Given the description of an element on the screen output the (x, y) to click on. 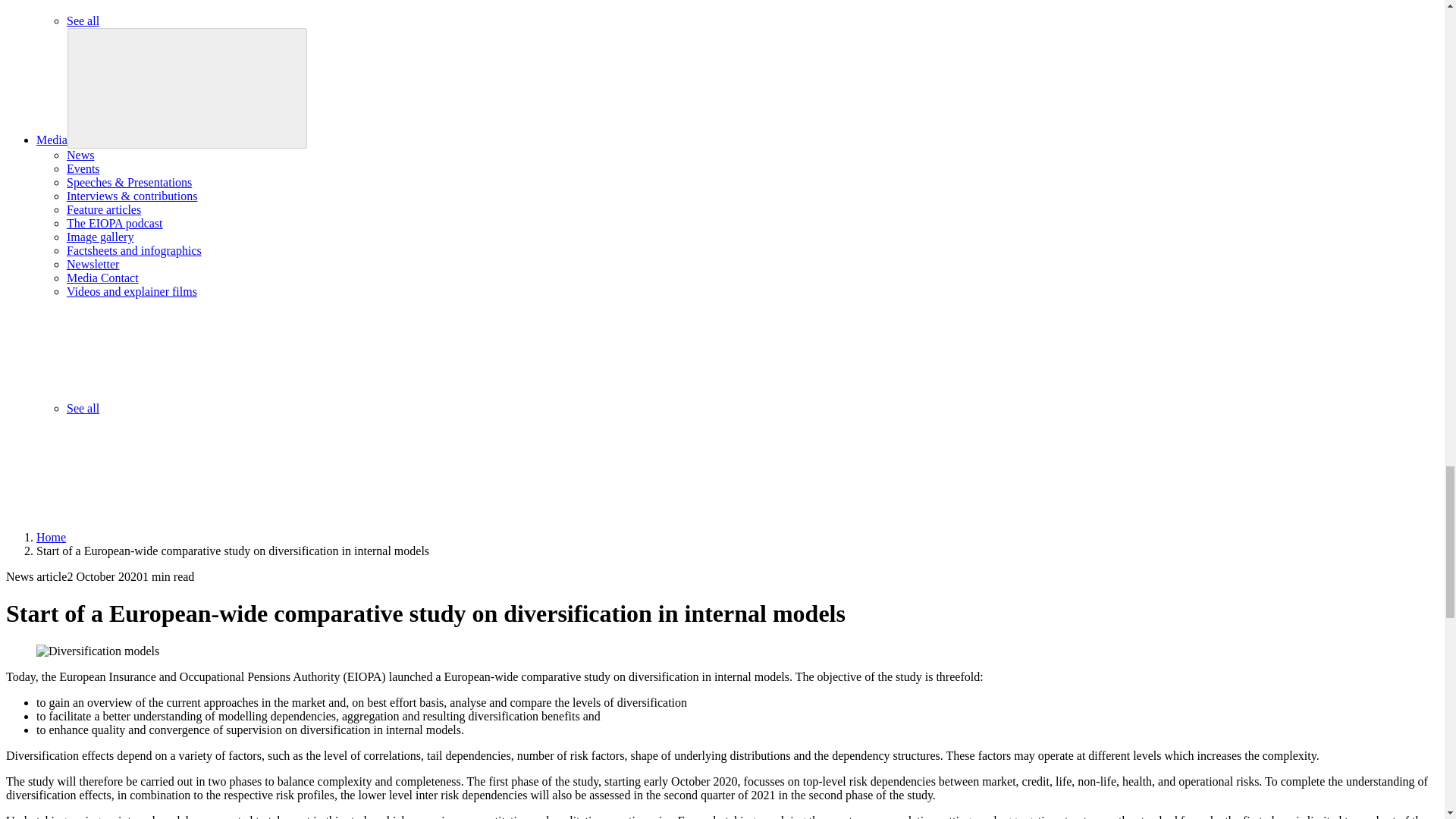
Diversification models (97, 651)
